Given the description of an element on the screen output the (x, y) to click on. 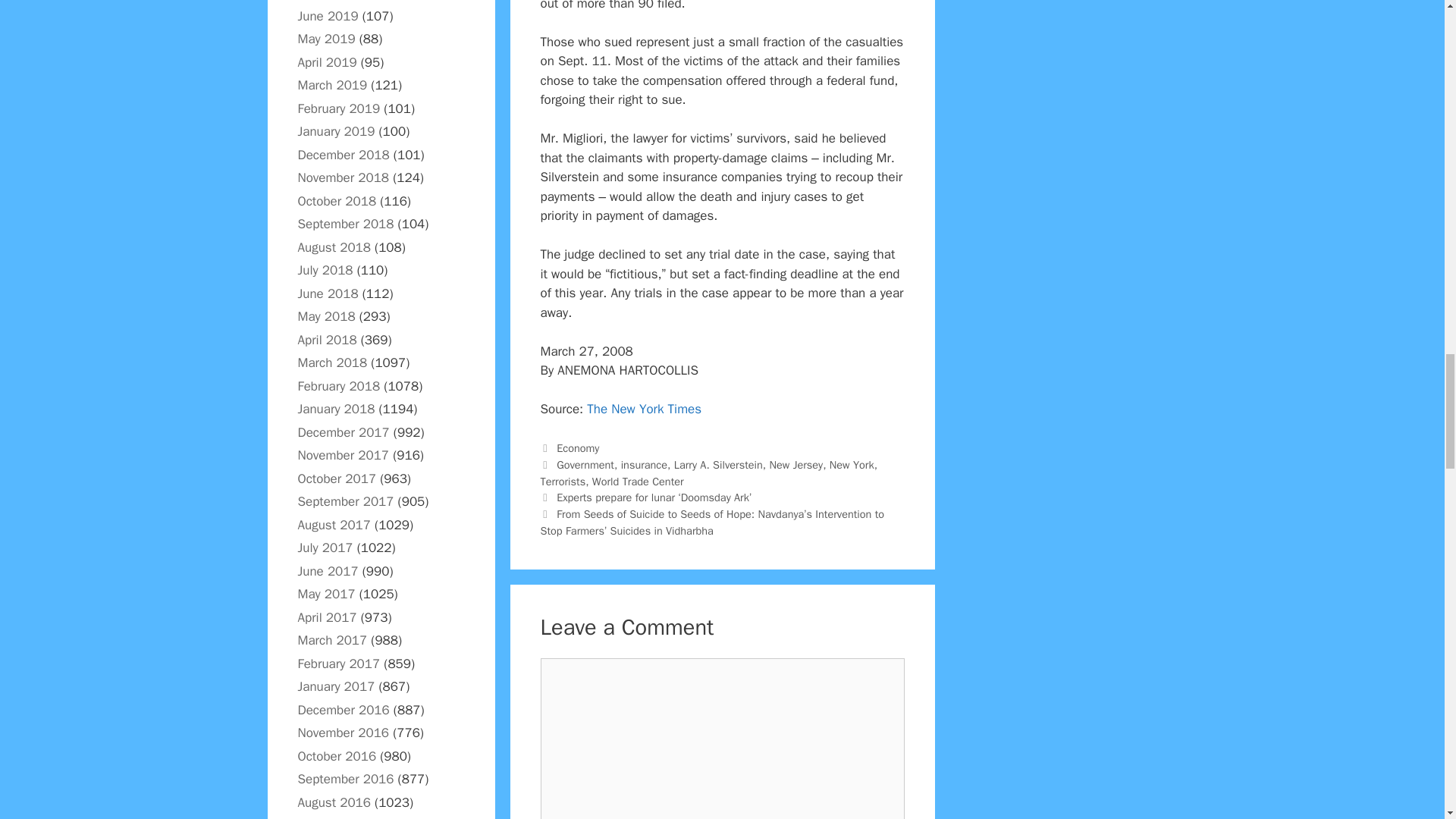
Government (585, 464)
World Trade Center (638, 481)
insurance (643, 464)
Larry A. Silverstein (718, 464)
Economy (577, 448)
Terrorists (562, 481)
New Jersey (795, 464)
The New York Times (643, 408)
New York (852, 464)
